Given the description of an element on the screen output the (x, y) to click on. 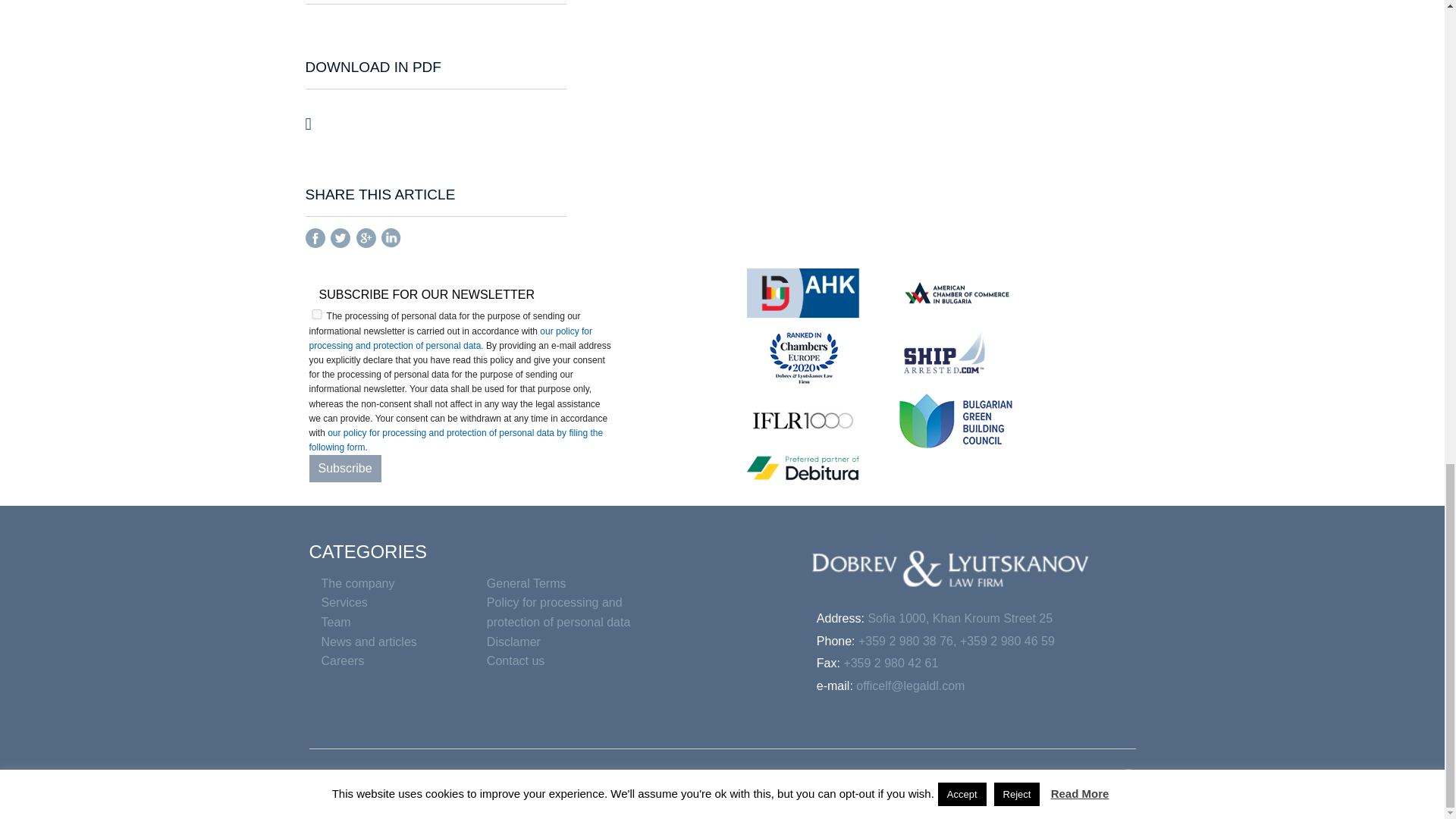
2 (316, 314)
Webtech (1109, 783)
